Given the description of an element on the screen output the (x, y) to click on. 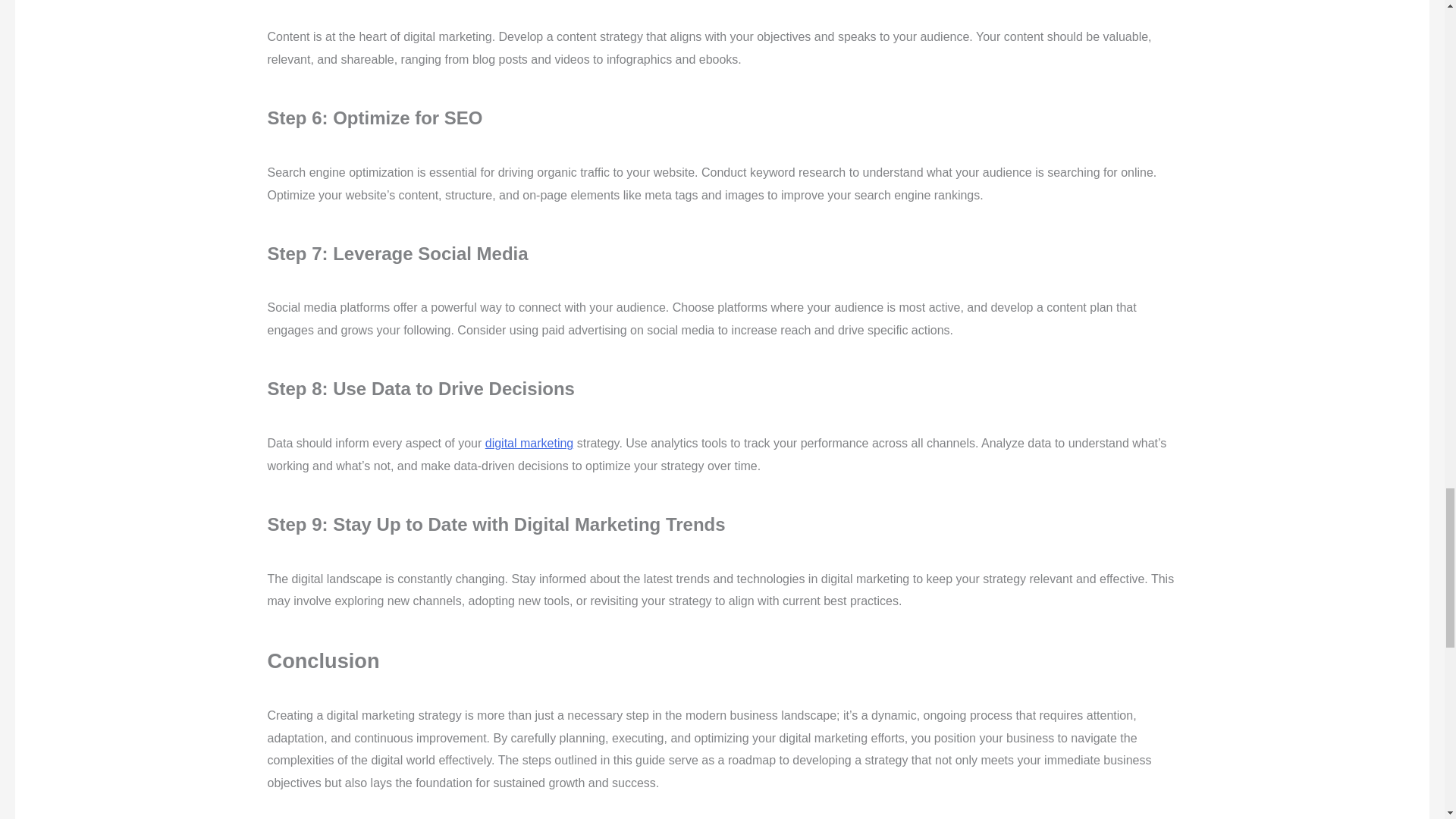
digital marketing (528, 442)
